Given the description of an element on the screen output the (x, y) to click on. 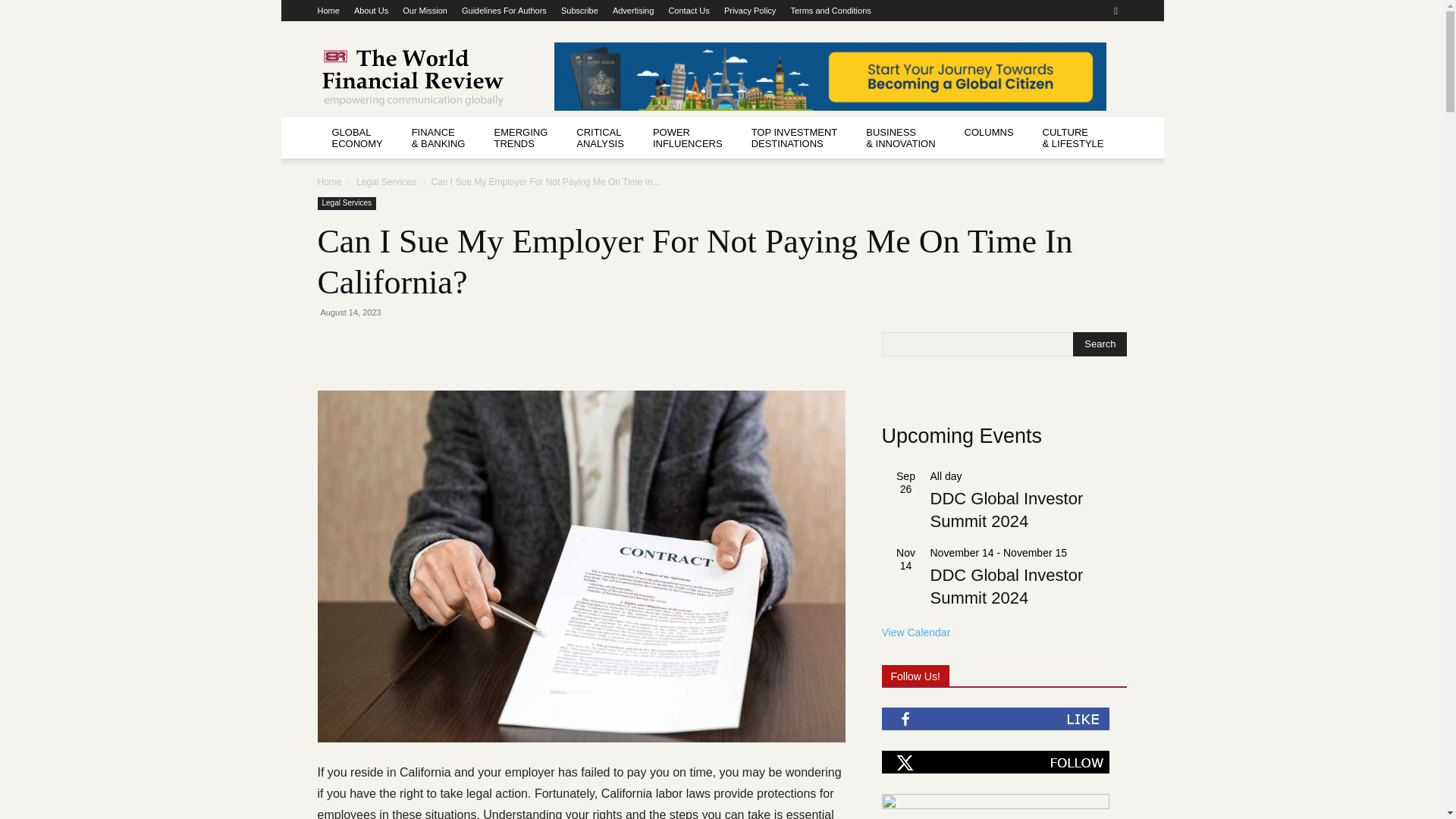
View all posts in Legal Services (386, 181)
Search (1099, 344)
